Given the description of an element on the screen output the (x, y) to click on. 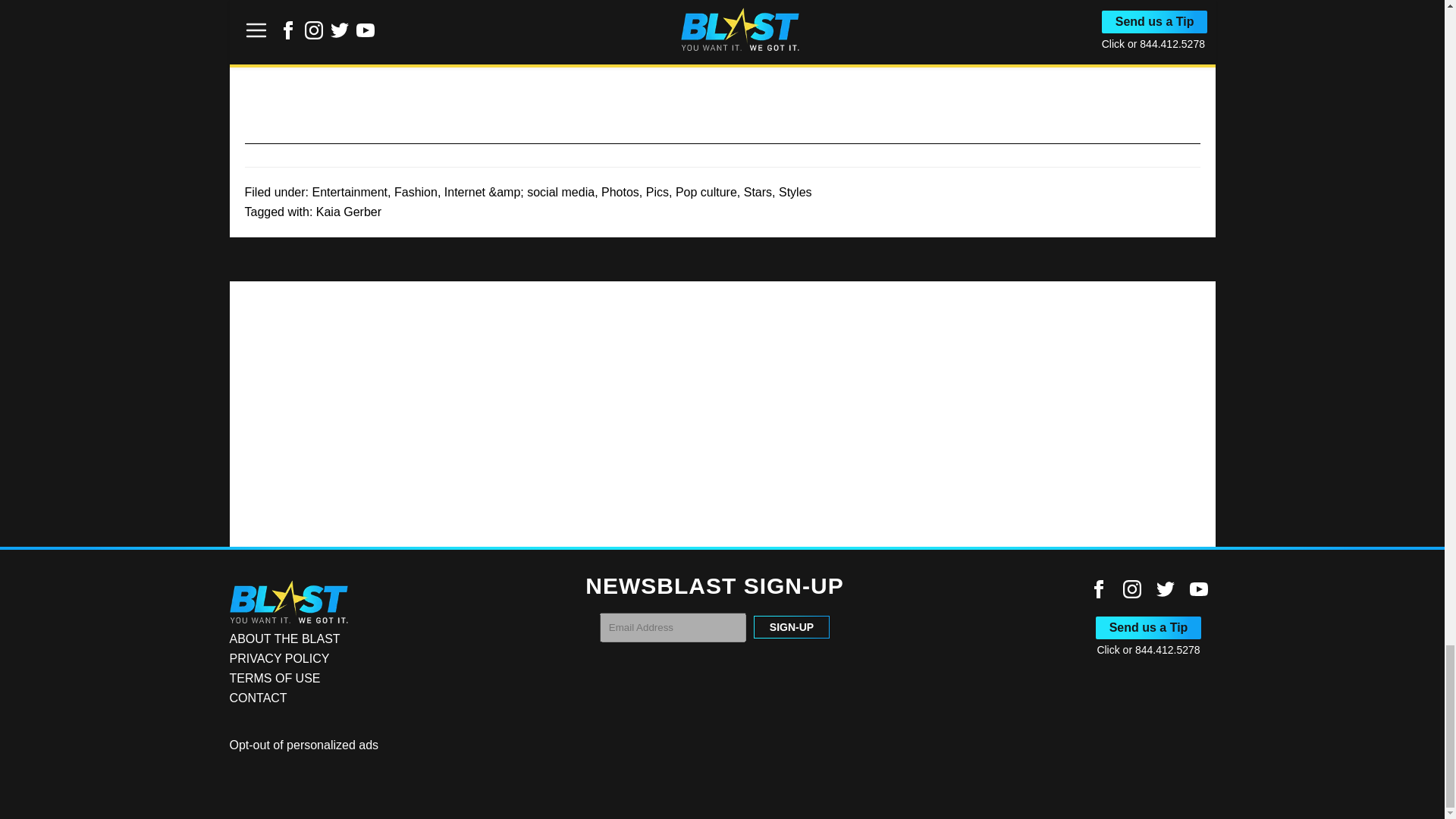
Link to Youtube (1198, 588)
TERMS OF USE (274, 677)
Link to Facebook (1097, 588)
ABOUT THE BLAST (283, 638)
Link to Twitter (1164, 588)
CONTACT (257, 697)
Photos (620, 192)
PRIVACY POLICY (278, 658)
Fashion (416, 192)
Entertainment (349, 192)
